Given the description of an element on the screen output the (x, y) to click on. 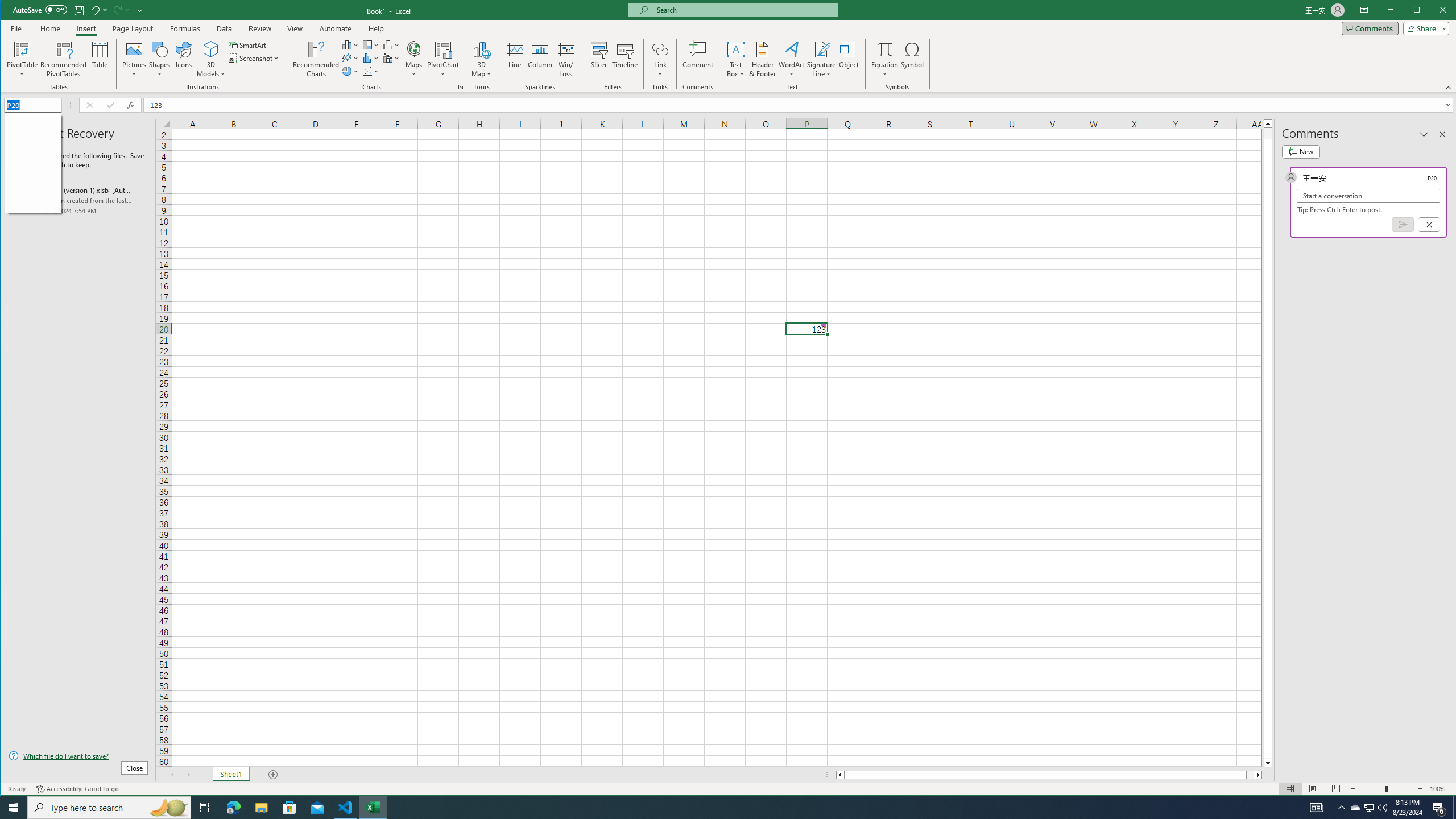
3D Map (481, 59)
Excel - 1 running window (373, 807)
Icons (183, 59)
Signature Line (821, 59)
Pictures (134, 59)
Q2790: 100% (1382, 807)
Draw Horizontal Text Box (735, 48)
Type here to search (108, 807)
Insert Combo Chart (391, 57)
